Given the description of an element on the screen output the (x, y) to click on. 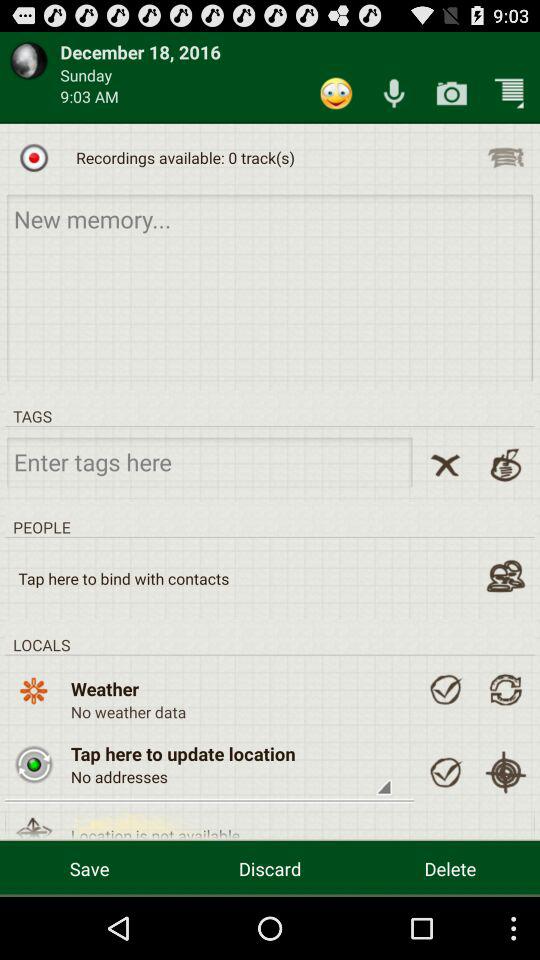
open location (34, 822)
